Given the description of an element on the screen output the (x, y) to click on. 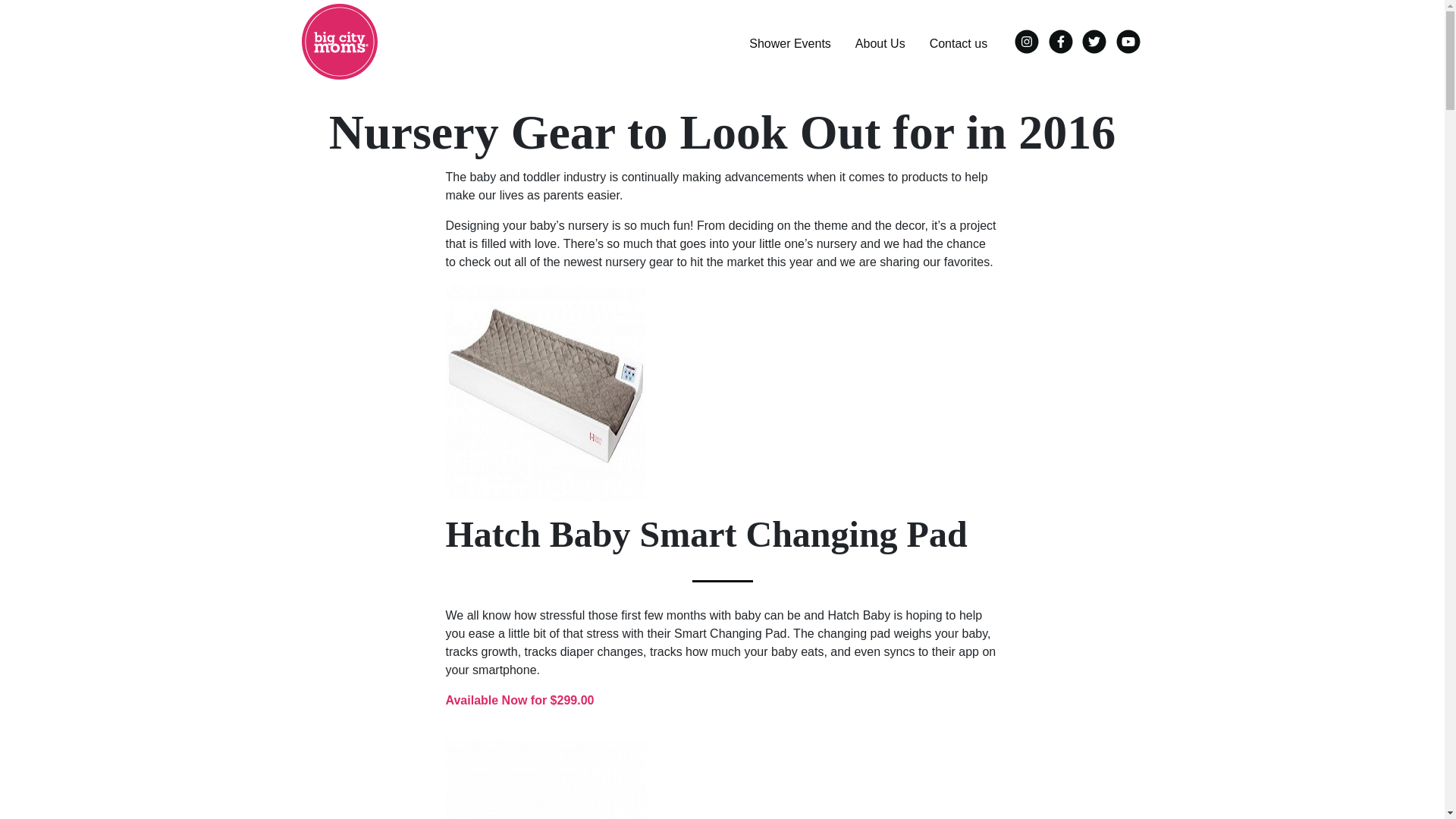
Twitter (1095, 38)
Facebook (1061, 38)
Contact us (957, 40)
Shower Events (789, 40)
About Us (880, 40)
YouTube (1127, 38)
Instagram (1028, 38)
